Given the description of an element on the screen output the (x, y) to click on. 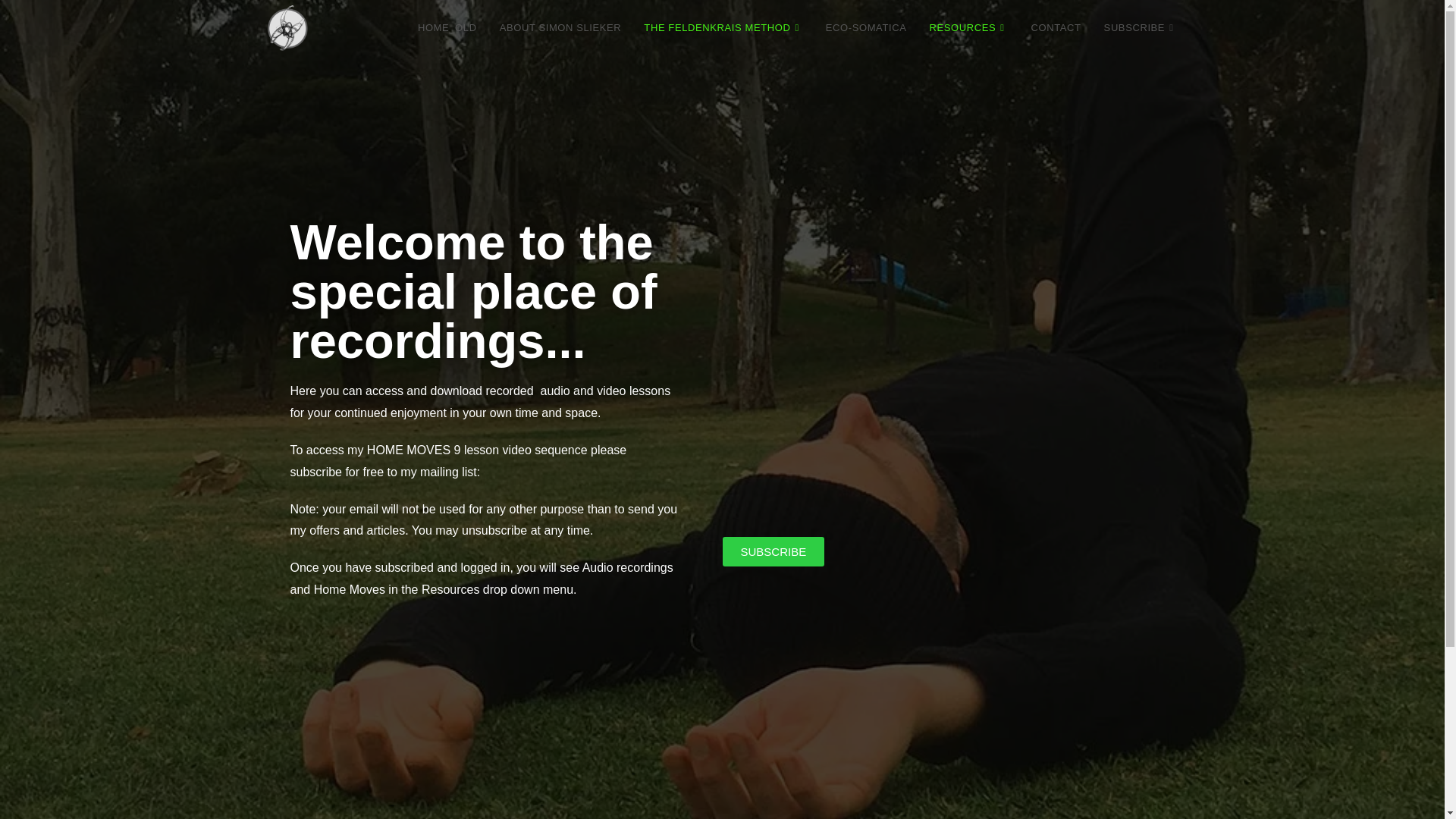
SUBSCRIBE (1141, 28)
ABOUT SIMON SLIEKER (560, 28)
CONTACT (1056, 28)
RESOURCES (968, 28)
THE FELDENKRAIS METHOD (722, 28)
ECO-SOMATICA (865, 28)
